Given the description of an element on the screen output the (x, y) to click on. 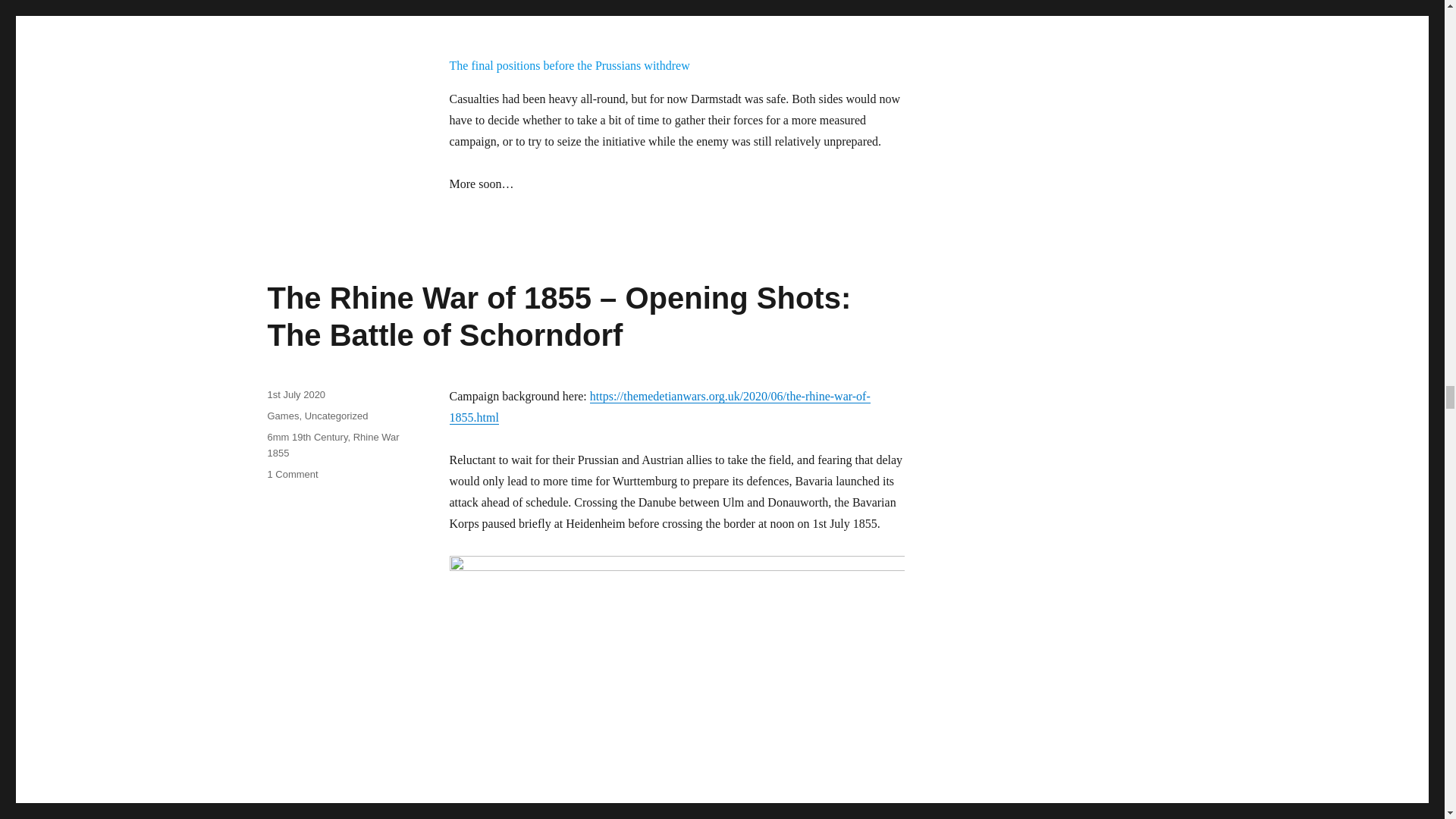
1st July 2020 (295, 394)
Uncategorized (336, 415)
6mm 19th Century (306, 437)
Games (282, 415)
